Given the description of an element on the screen output the (x, y) to click on. 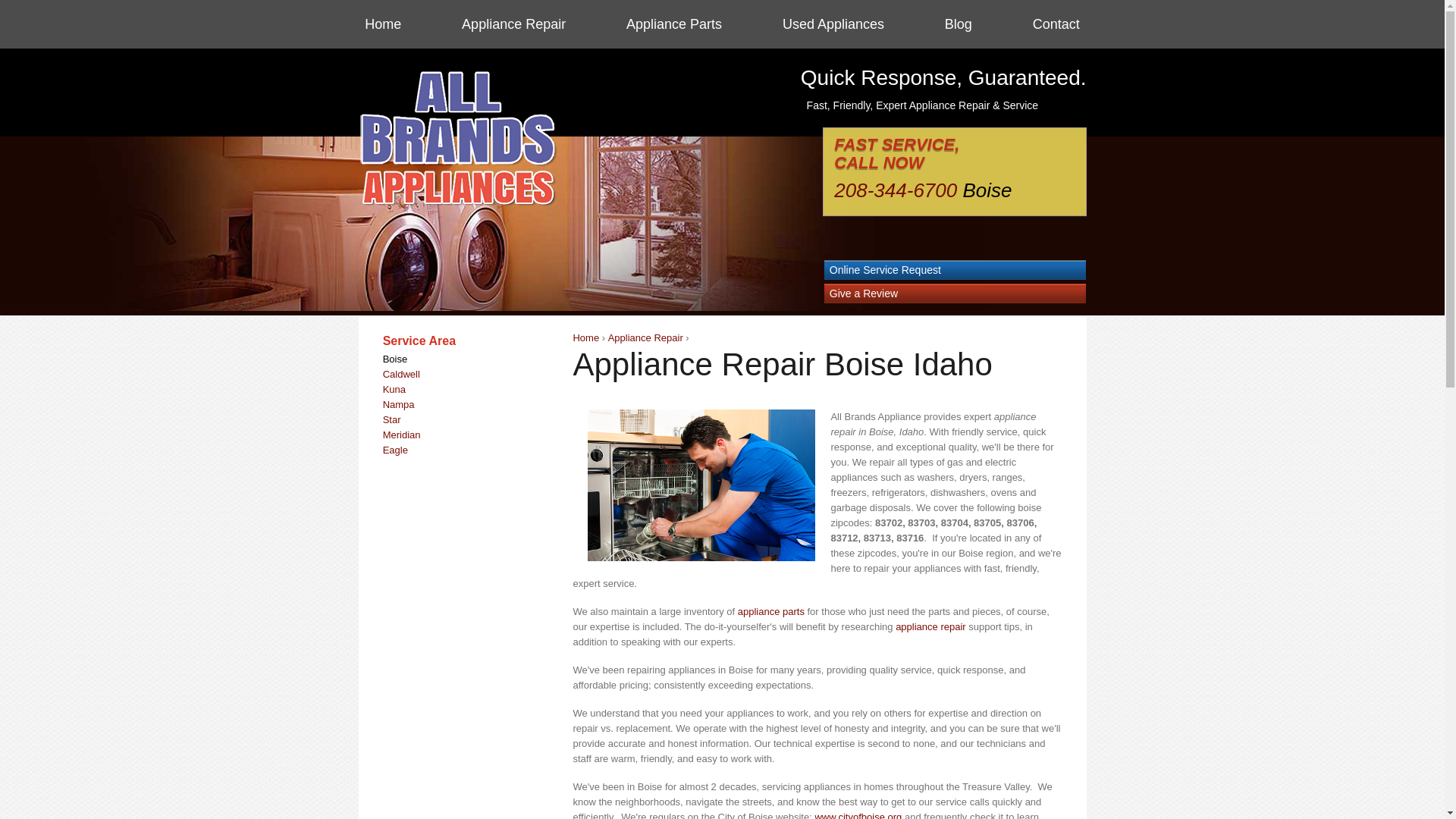
Appliance Repair Boise - Dishwasher Repair Man (701, 485)
Home (383, 23)
Appliance Repair (645, 337)
appliance repair (930, 626)
Home (585, 337)
Appliance Parts (674, 23)
Nampa (398, 404)
Blog (958, 23)
appliance parts (771, 611)
Appliance Repair (513, 23)
